Given the description of an element on the screen output the (x, y) to click on. 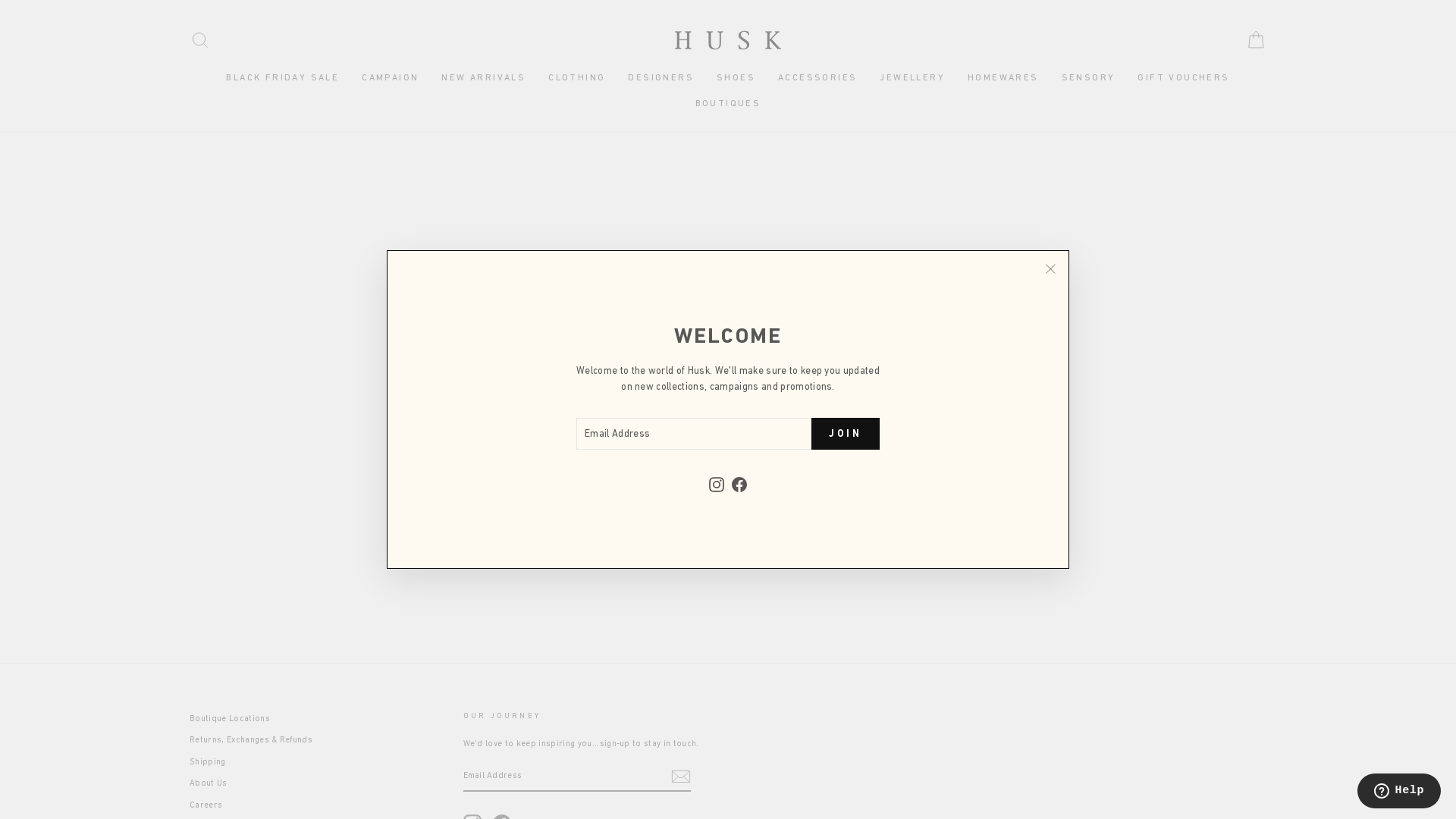
CART Element type: text (1255, 39)
ACCESSORIES Element type: text (817, 78)
Instagram Element type: text (716, 483)
CLOTHING Element type: text (576, 78)
DESIGNERS Element type: text (660, 78)
SENSORY Element type: text (1088, 78)
About Us Element type: text (208, 783)
SHOES Element type: text (735, 78)
CAMPAIGN Element type: text (389, 78)
BLACK FRIDAY SALE Element type: text (282, 78)
SEARCH Element type: text (199, 39)
GIFT VOUCHERS Element type: text (1183, 78)
JEWELLERY Element type: text (912, 78)
Careers Element type: text (205, 805)
Shipping Element type: text (207, 761)
Opens a widget where you can find more information Element type: hover (1398, 792)
"Close (esc)" Element type: text (1050, 269)
NEW ARRIVALS Element type: text (482, 78)
HOMEWARES Element type: text (1003, 78)
Boutique Locations Element type: text (229, 718)
Facebook Element type: text (739, 483)
BOUTIQUES Element type: text (728, 103)
Returns, Exchanges & Refunds Element type: text (250, 739)
Continue shopping Element type: text (727, 308)
JOIN Element type: text (845, 433)
